Given the description of an element on the screen output the (x, y) to click on. 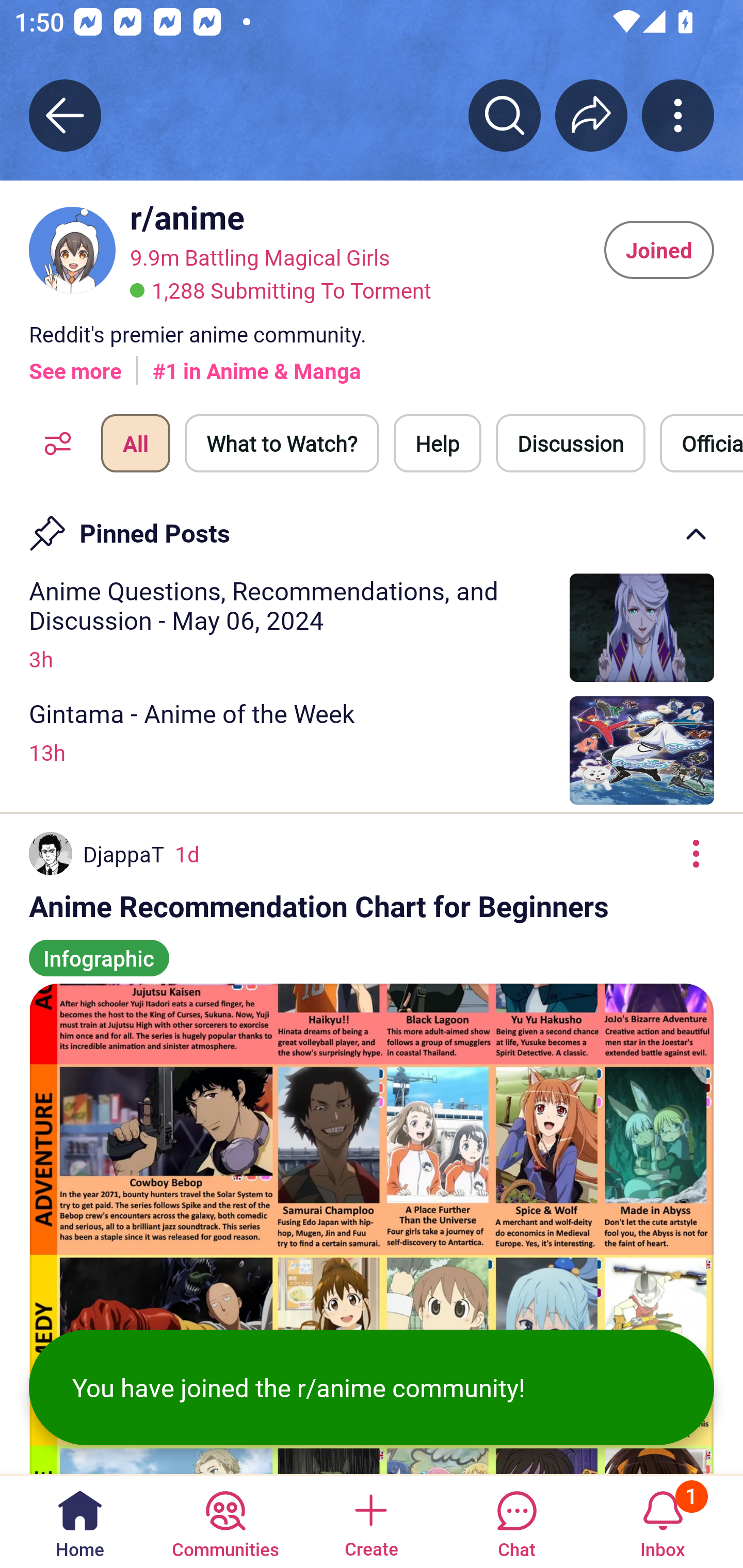
Back (64, 115)
Search r/﻿anime (504, 115)
Share r/﻿anime (591, 115)
More community actions (677, 115)
Feed Options (53, 442)
All (135, 442)
What to Watch? (281, 442)
Help (437, 442)
Discussion (570, 442)
Official Media (701, 442)
Pin Pinned Posts Caret (371, 526)
Gintama - Anime of the Week 13h Thumbnail (371, 750)
Infographic (98, 949)
Home (80, 1520)
Communities (225, 1520)
Create a post Create (370, 1520)
Chat (516, 1520)
Inbox, has 1 notification 1 Inbox (662, 1520)
